Given the description of an element on the screen output the (x, y) to click on. 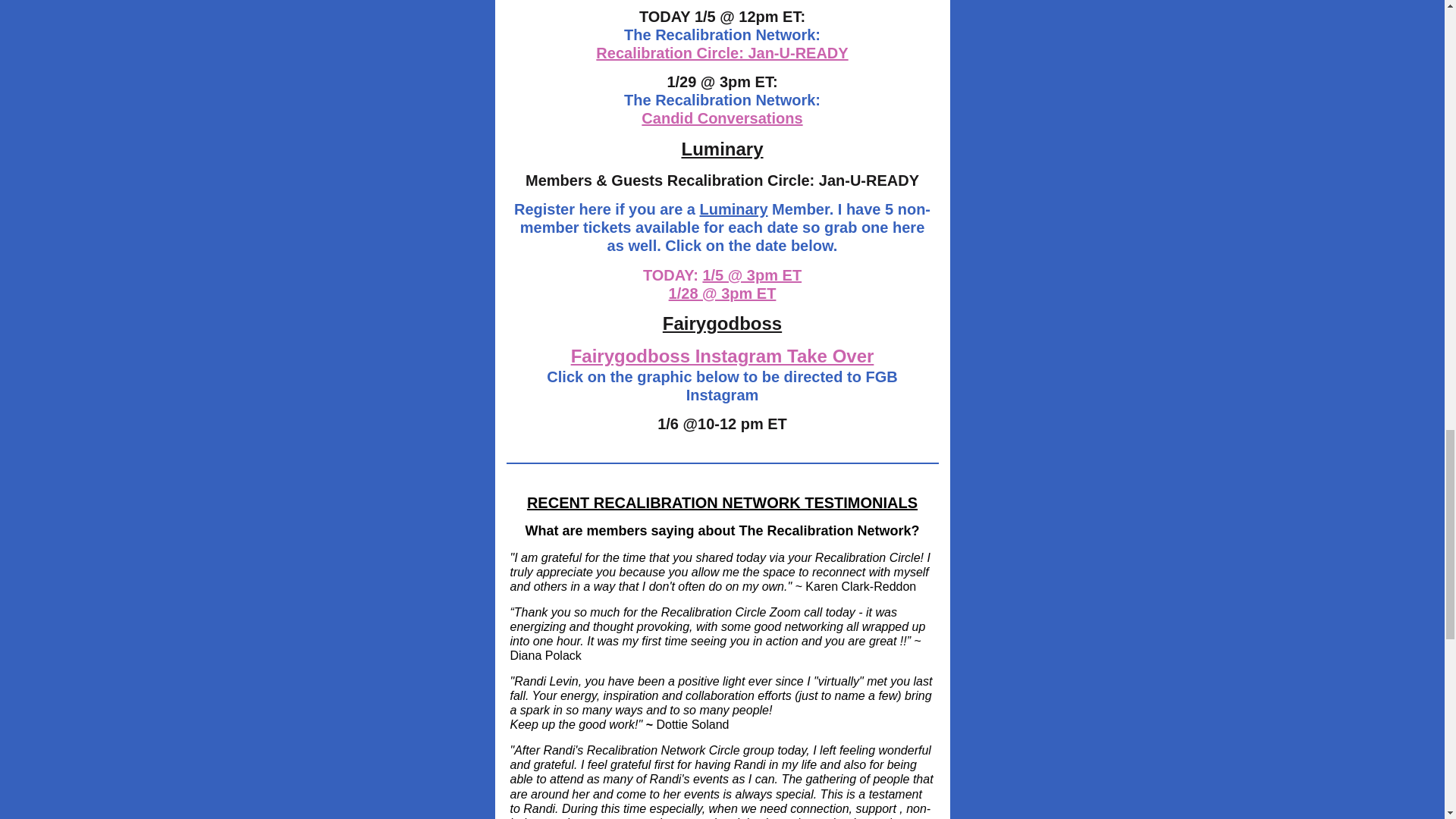
Candid Conversations (722, 117)
Fairygodboss Instagram Take Over (722, 355)
Recalibration Circle: Jan-U-READY (721, 53)
Luminary (732, 208)
